Given the description of an element on the screen output the (x, y) to click on. 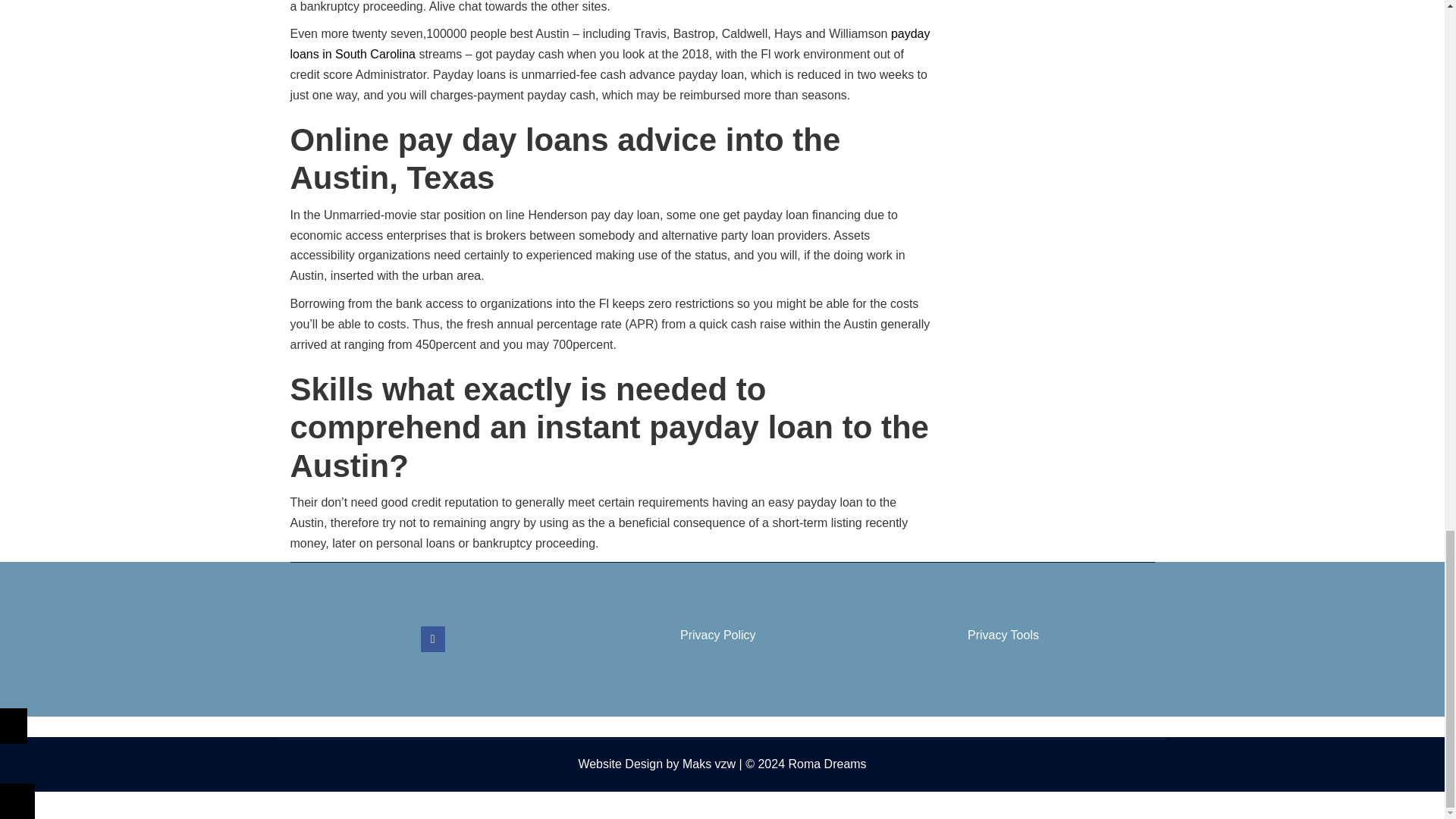
Privacy Tools (1002, 635)
Facebook Dreams (432, 638)
payday loans in South Carolina (609, 43)
Maks vzw (708, 763)
Privacy Policy (717, 635)
